Given the description of an element on the screen output the (x, y) to click on. 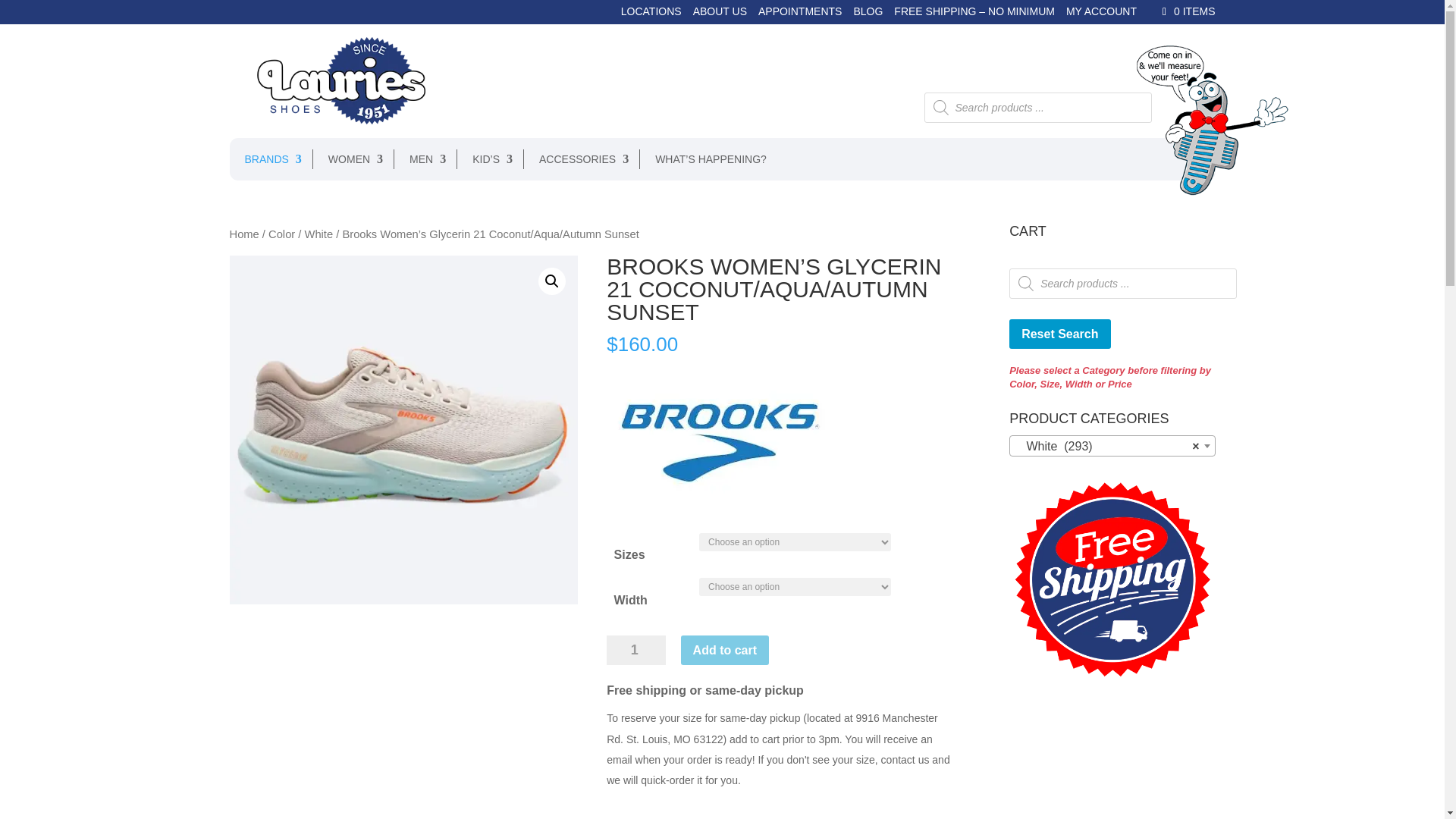
Brooks Women's Glycerin 21 Coconut:Aqua:Autumn Sunset (402, 429)
BLOG (867, 15)
0 ITEMS (1186, 10)
BRANDS (265, 158)
MY ACCOUNT (1101, 15)
ABOUT US (719, 15)
APPOINTMENTS (799, 15)
LOCATIONS (651, 15)
1 (636, 650)
